Given the description of an element on the screen output the (x, y) to click on. 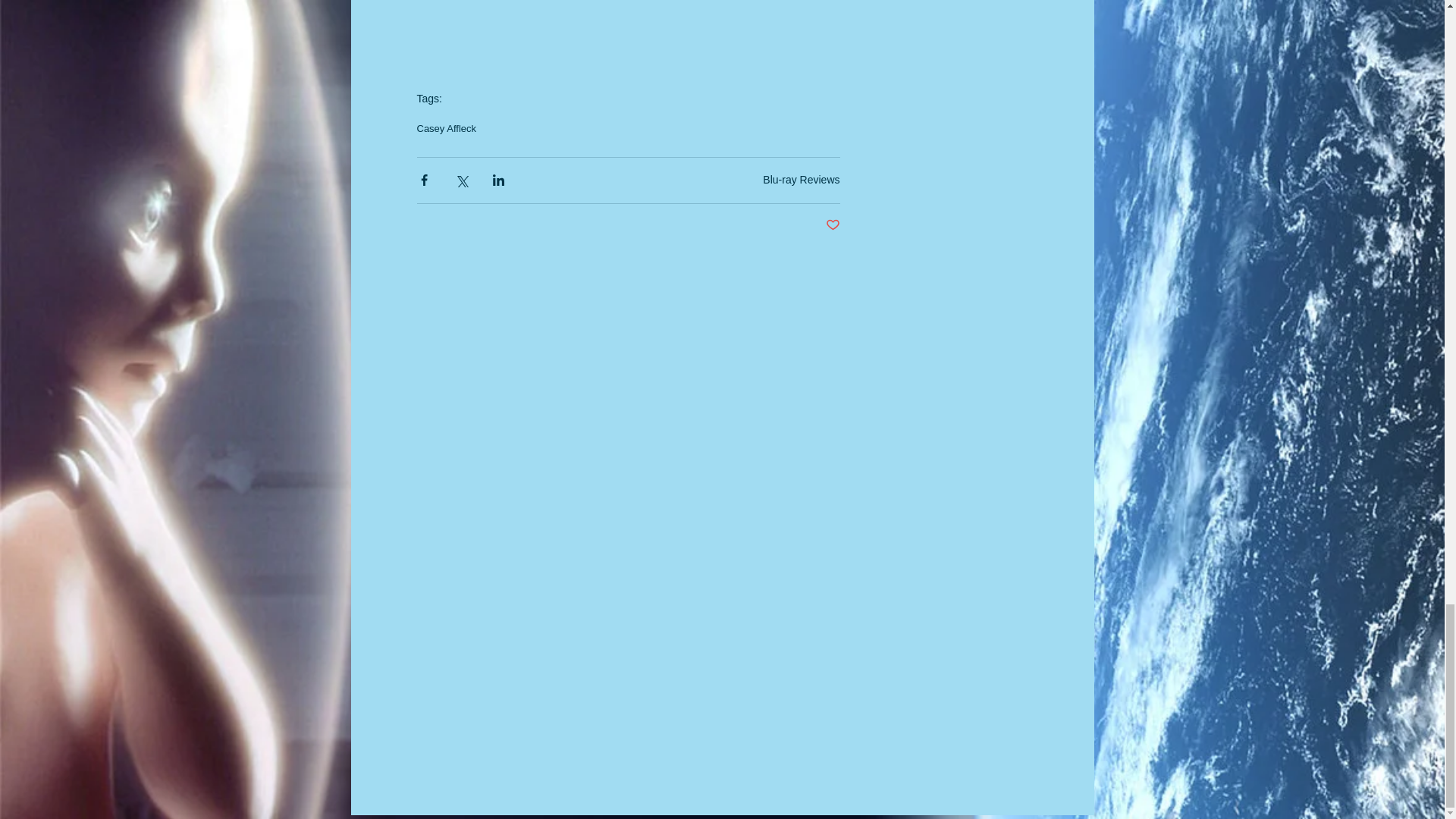
Blu-ray Reviews (801, 179)
Post not marked as liked (832, 225)
Casey Affleck (446, 128)
